Given the description of an element on the screen output the (x, y) to click on. 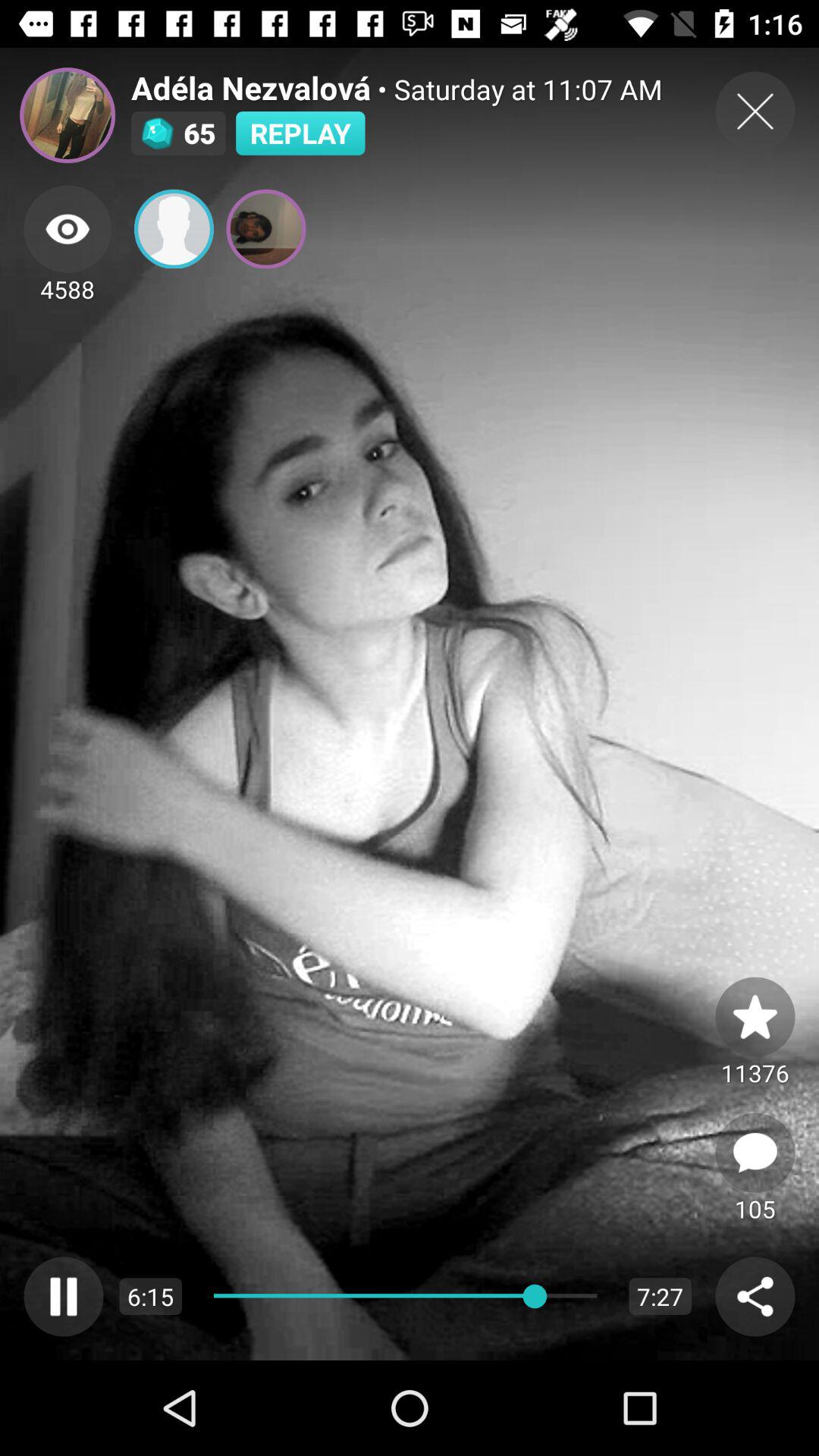
avatar (67, 115)
